Given the description of an element on the screen output the (x, y) to click on. 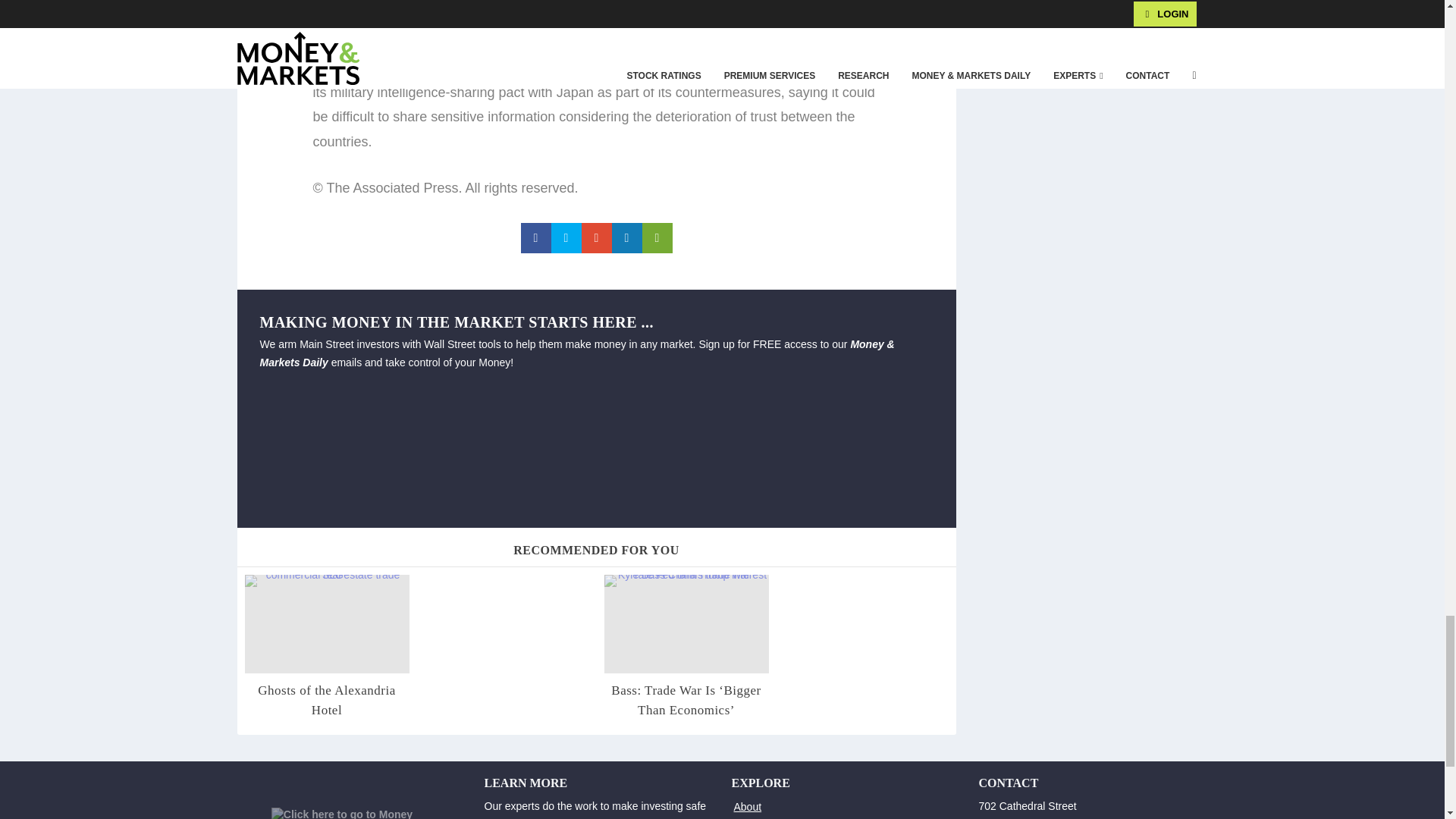
Ghosts of the Alexandria Hotel (326, 623)
Ghosts of the Alexandria Hotel (326, 700)
Ghosts of the Alexandria Hotel (326, 700)
About (747, 806)
